Given the description of an element on the screen output the (x, y) to click on. 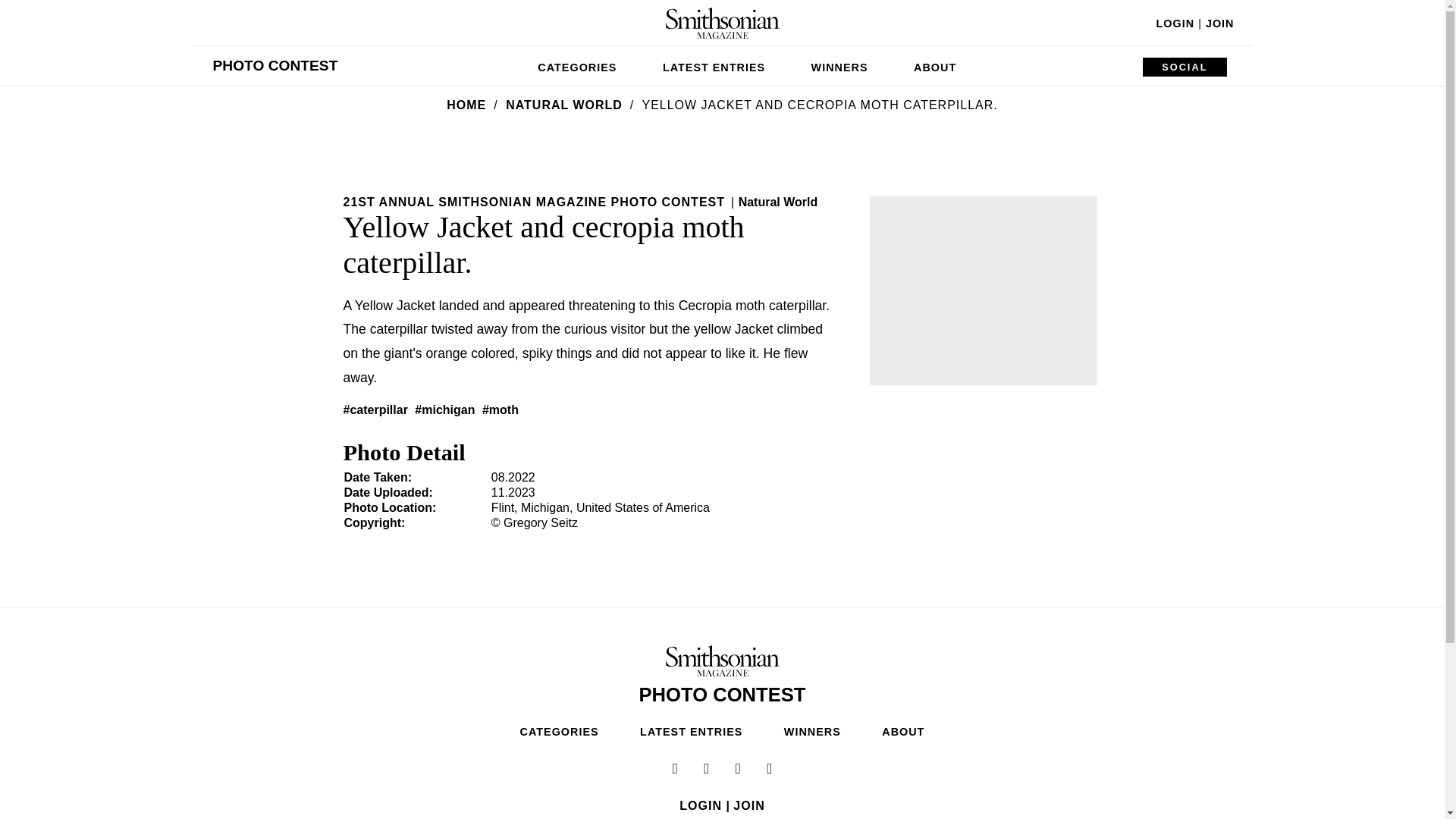
PHOTO CONTEST (274, 65)
JOIN (1219, 23)
LATEST ENTRIES (713, 65)
SOCIAL (1183, 66)
WINNERS (839, 65)
ABOUT (934, 65)
CATEGORIES (577, 65)
